Given the description of an element on the screen output the (x, y) to click on. 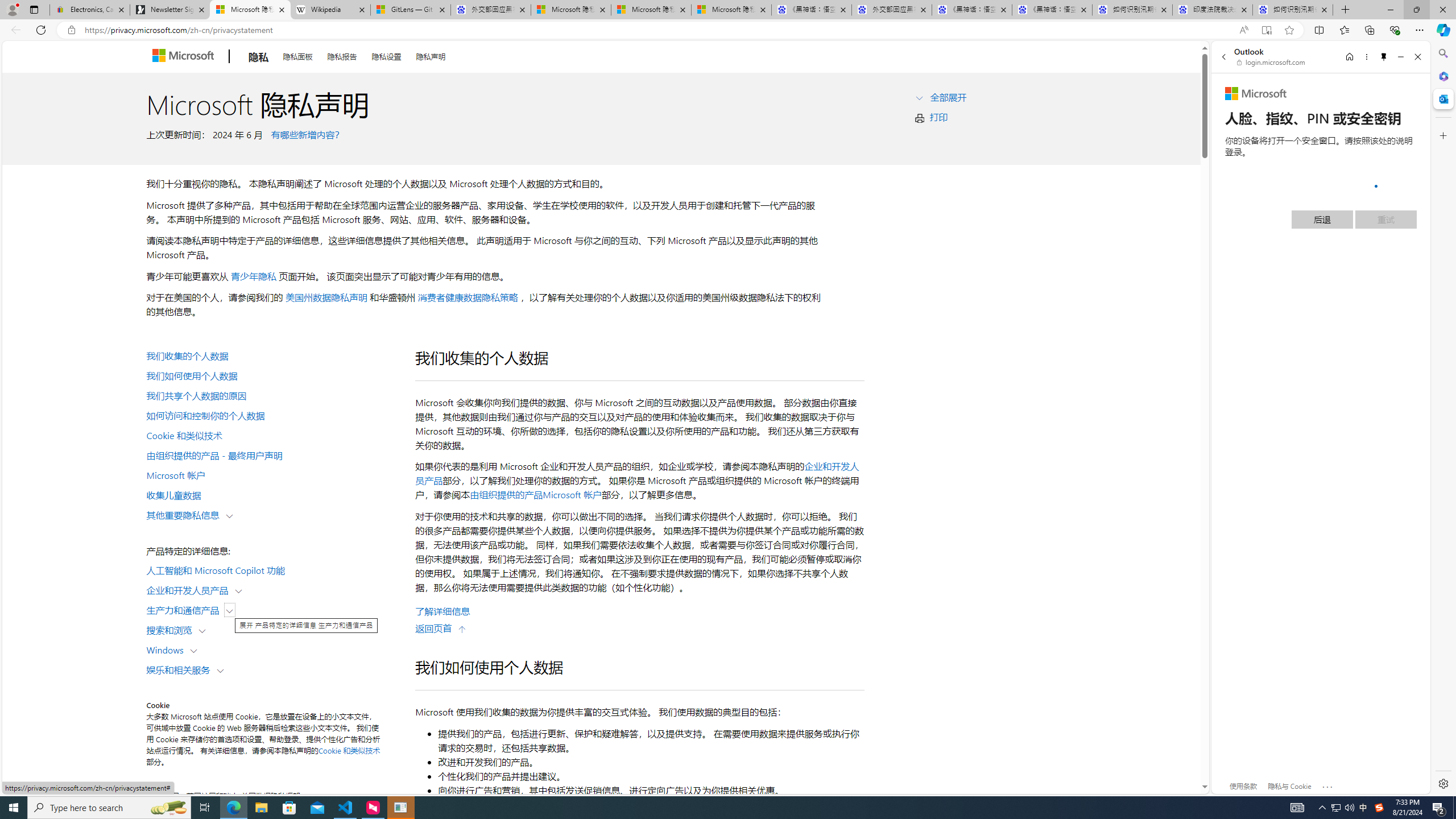
Wikipedia (330, 9)
